Given the description of an element on the screen output the (x, y) to click on. 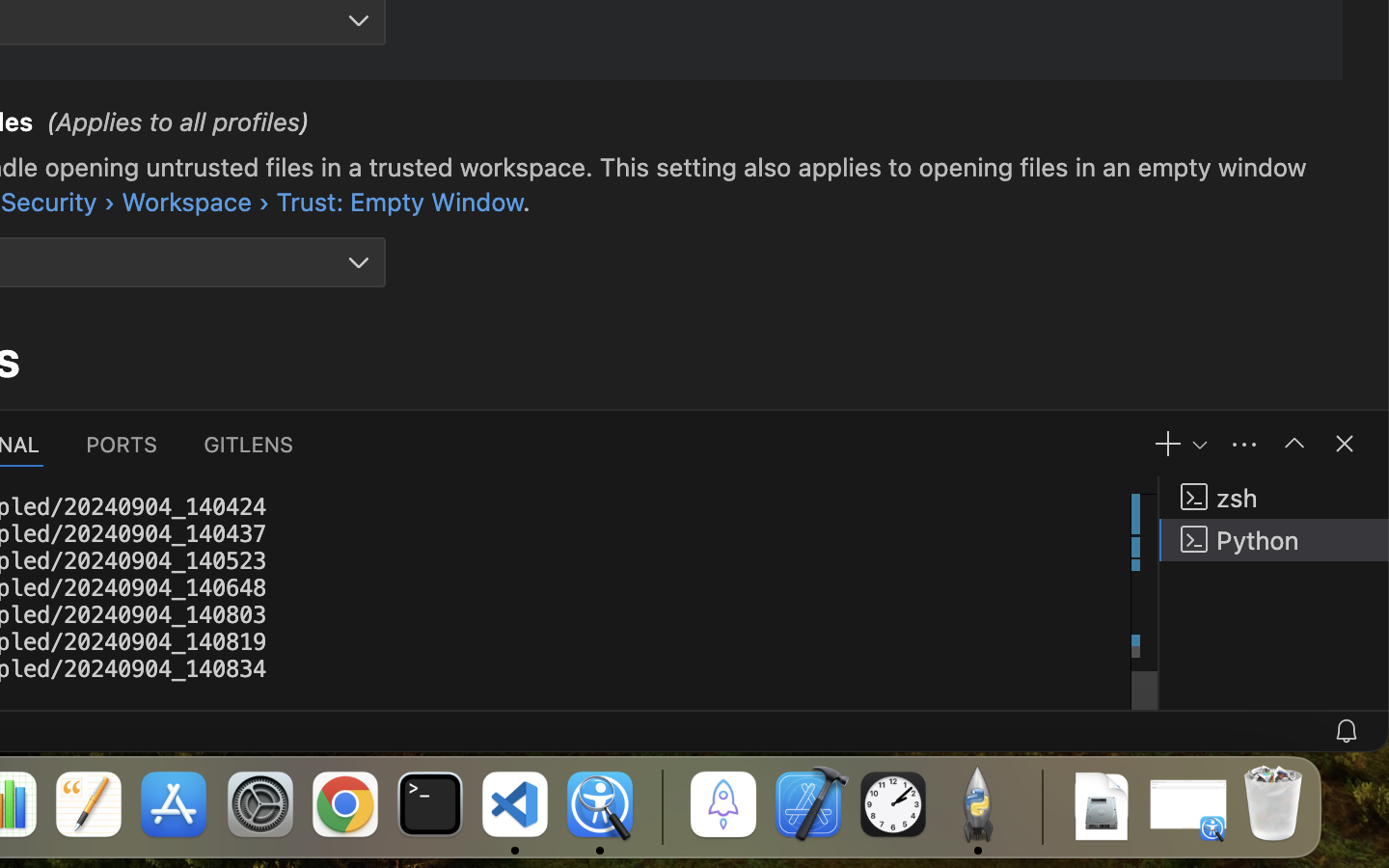
Applies to all profiles Element type: AXStaticText (177, 122)
 Element type: AXStaticText (358, 261)
0.4285714328289032 Element type: AXDockItem (660, 805)
 Element type: AXCheckBox (1294, 443)
0 GITLENS Element type: AXRadioButton (249, 443)
